Given the description of an element on the screen output the (x, y) to click on. 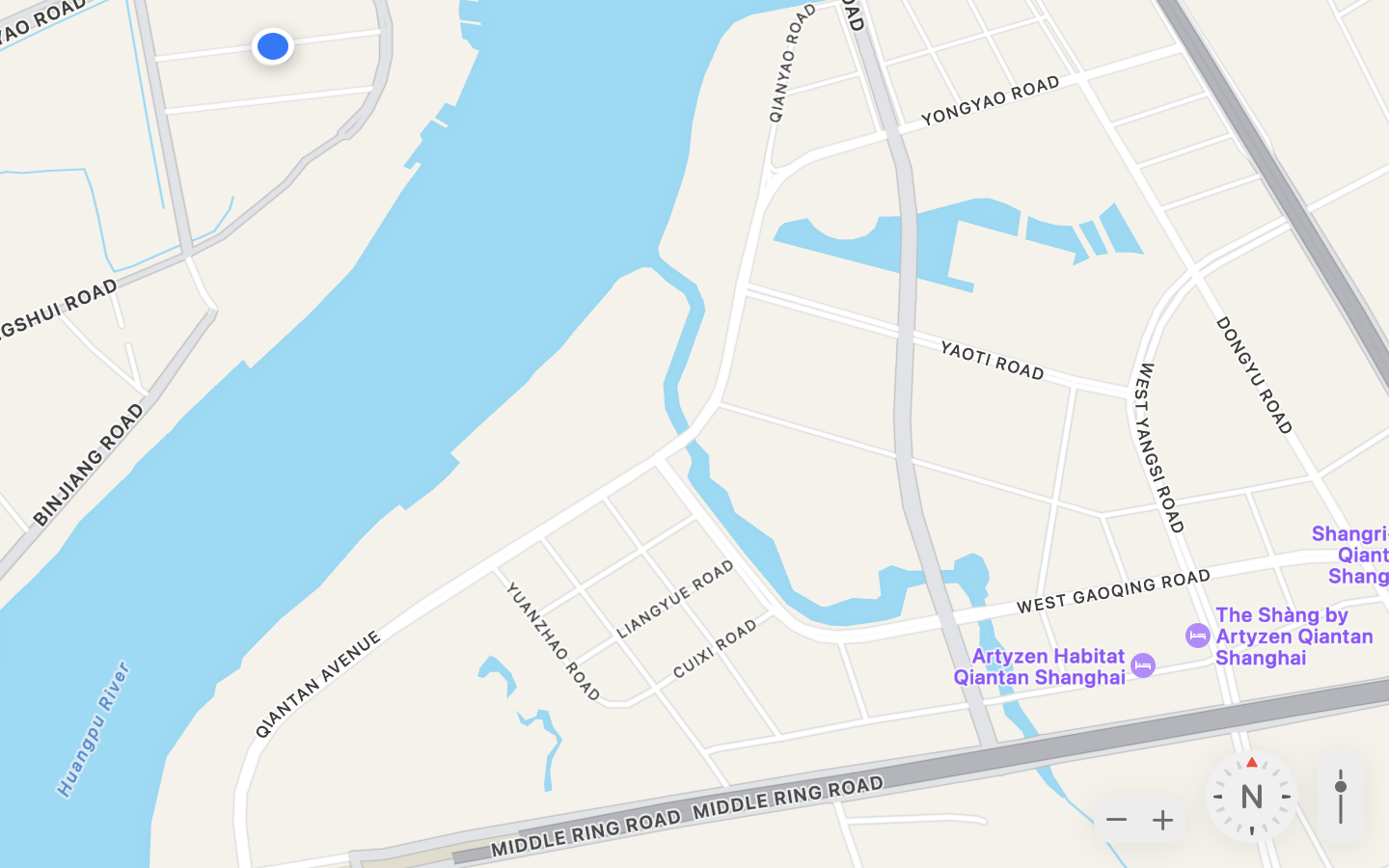
Heading: 0 degrees North Element type: AXButton (1251, 796)
0.6666667461395264 Element type: AXSlider (1340, 796)
